Given the description of an element on the screen output the (x, y) to click on. 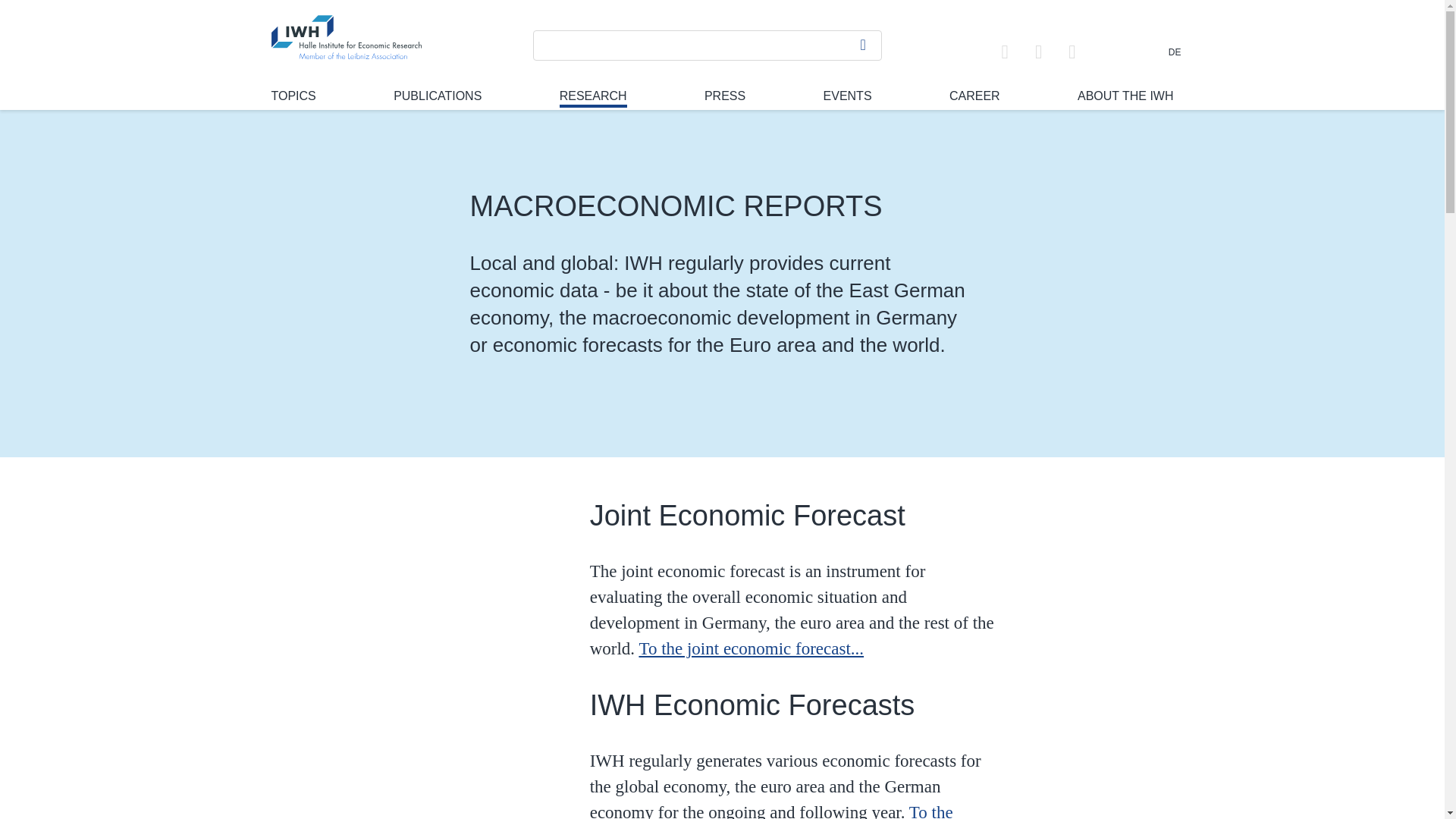
PUBLICATIONS (437, 96)
RESEARCH (593, 98)
TOPICS (292, 96)
DE (1174, 51)
